Given the description of an element on the screen output the (x, y) to click on. 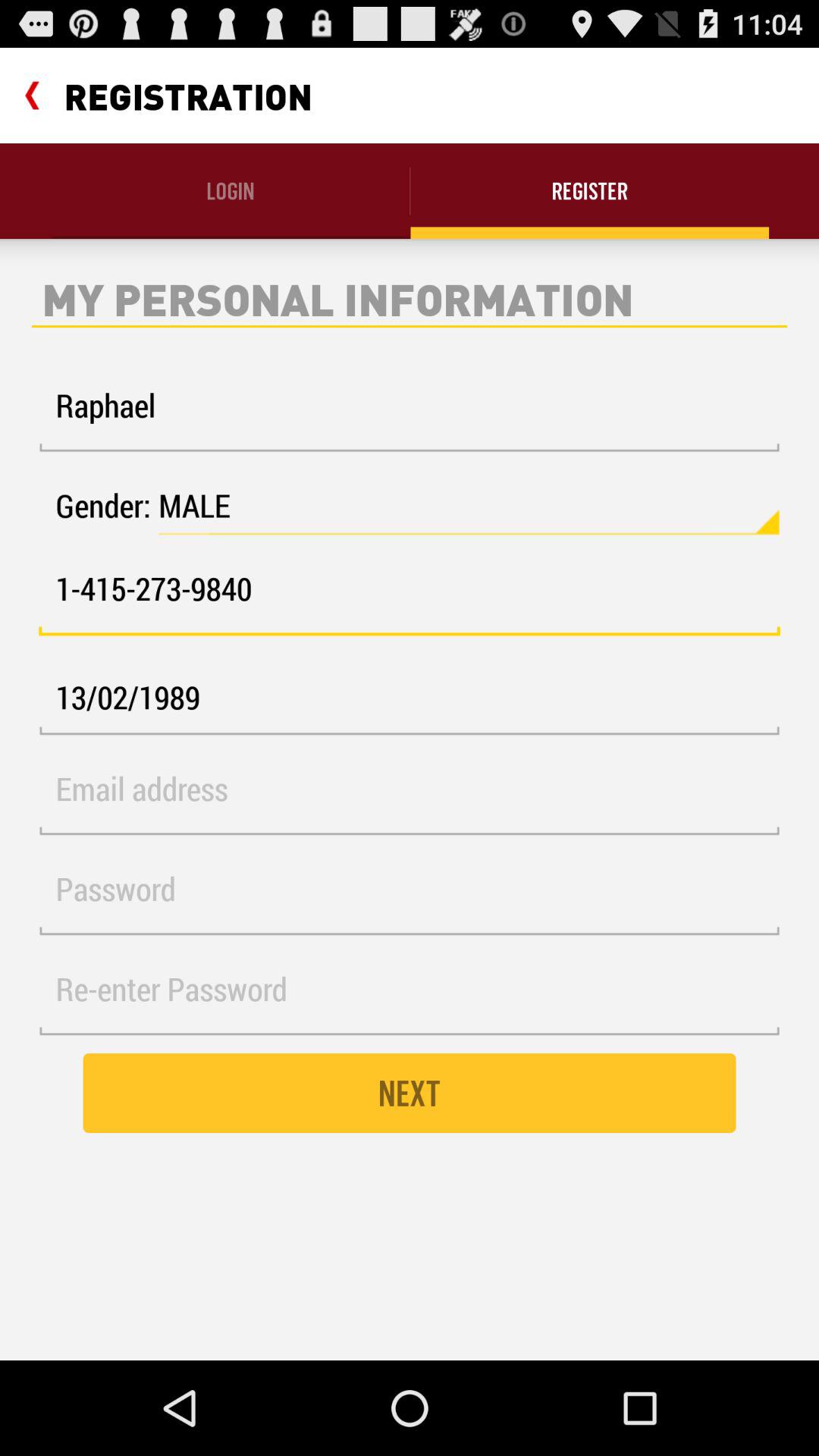
launch icon next to gender: icon (468, 505)
